Given the description of an element on the screen output the (x, y) to click on. 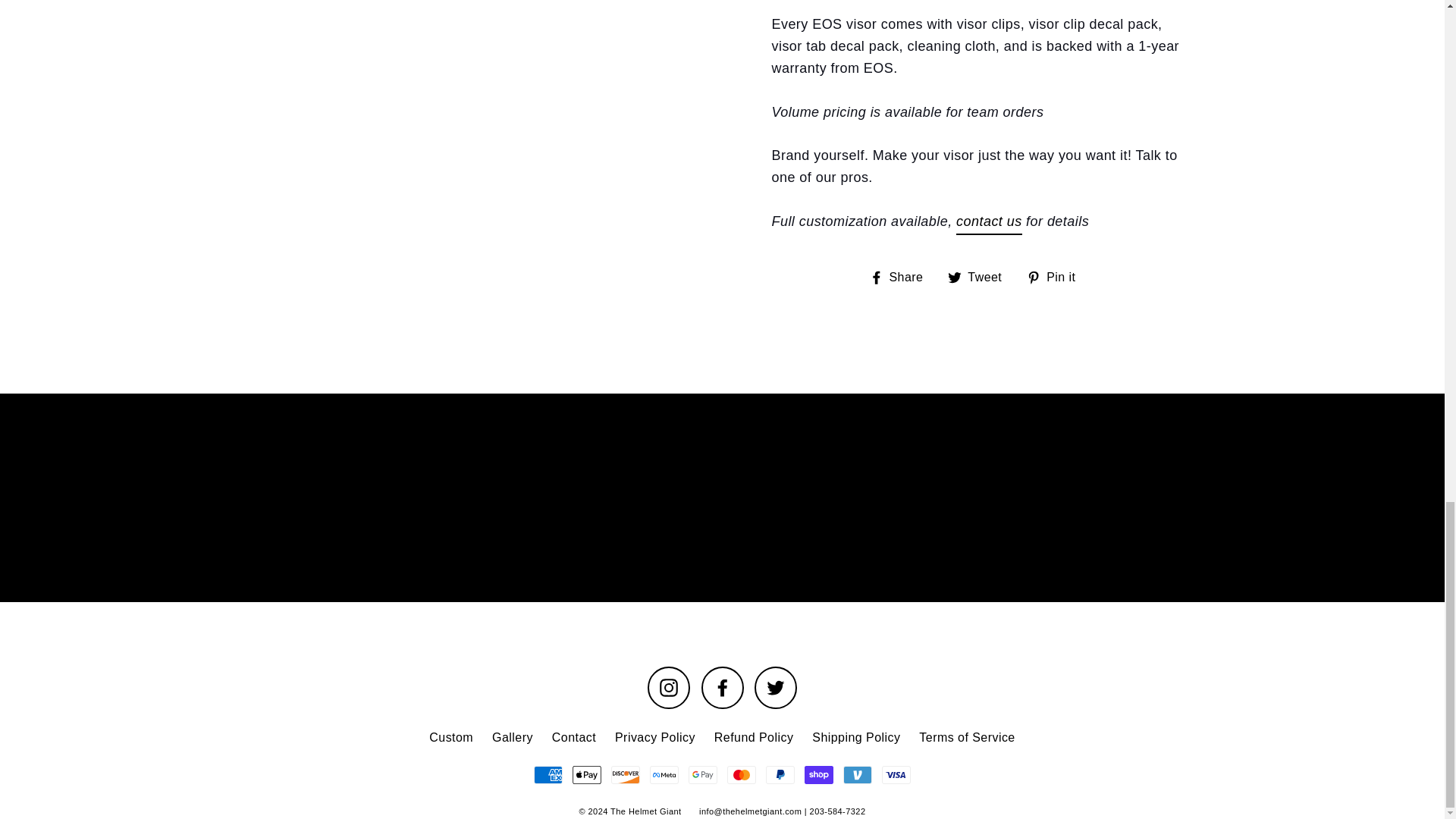
Share on Facebook (901, 276)
Mastercard (740, 774)
American Express (548, 774)
Apple Pay (586, 774)
Contact (989, 222)
Visa (896, 774)
PayPal (779, 774)
Pin on Pinterest (1056, 276)
Shop Pay (818, 774)
Venmo (857, 774)
The Helmet Giant on Instagram (668, 687)
Discover (625, 774)
Tweet on Twitter (980, 276)
Meta Pay (663, 774)
Google Pay (702, 774)
